Given the description of an element on the screen output the (x, y) to click on. 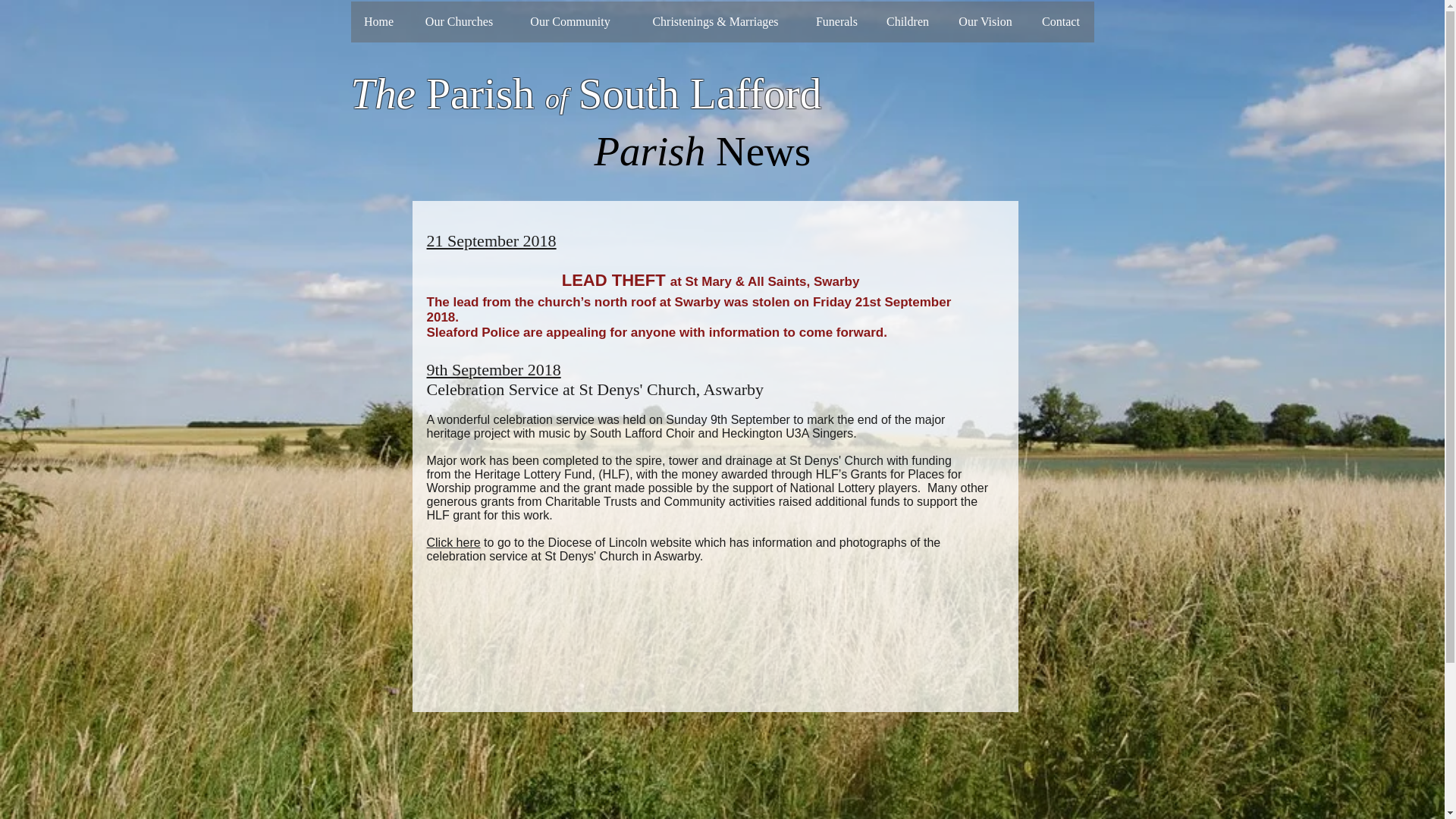
Our Vision (985, 21)
Children (907, 21)
Funerals (835, 21)
Our Community (569, 21)
Contact (1059, 21)
Home (378, 21)
Click here (453, 542)
Sleaford (451, 332)
Our Churches (458, 21)
